Given the description of an element on the screen output the (x, y) to click on. 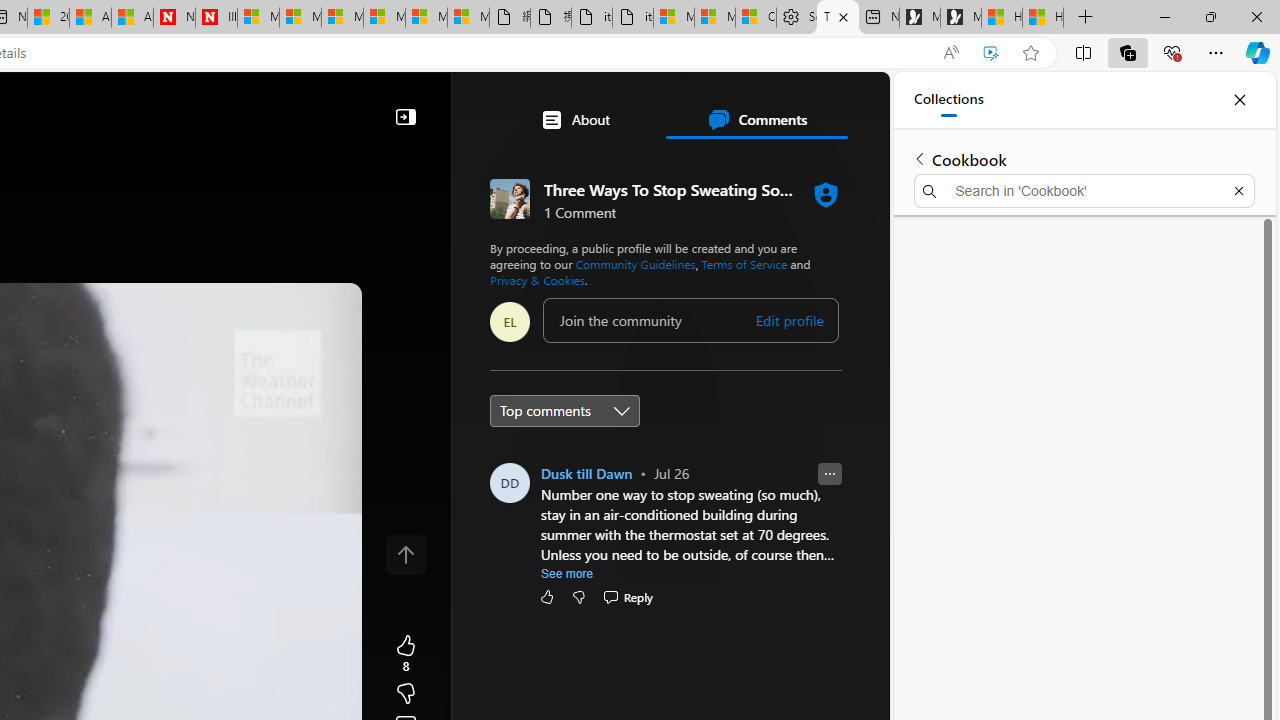
Terms of Service (744, 264)
Exit search (1238, 190)
Reuters (584, 557)
